Given the description of an element on the screen output the (x, y) to click on. 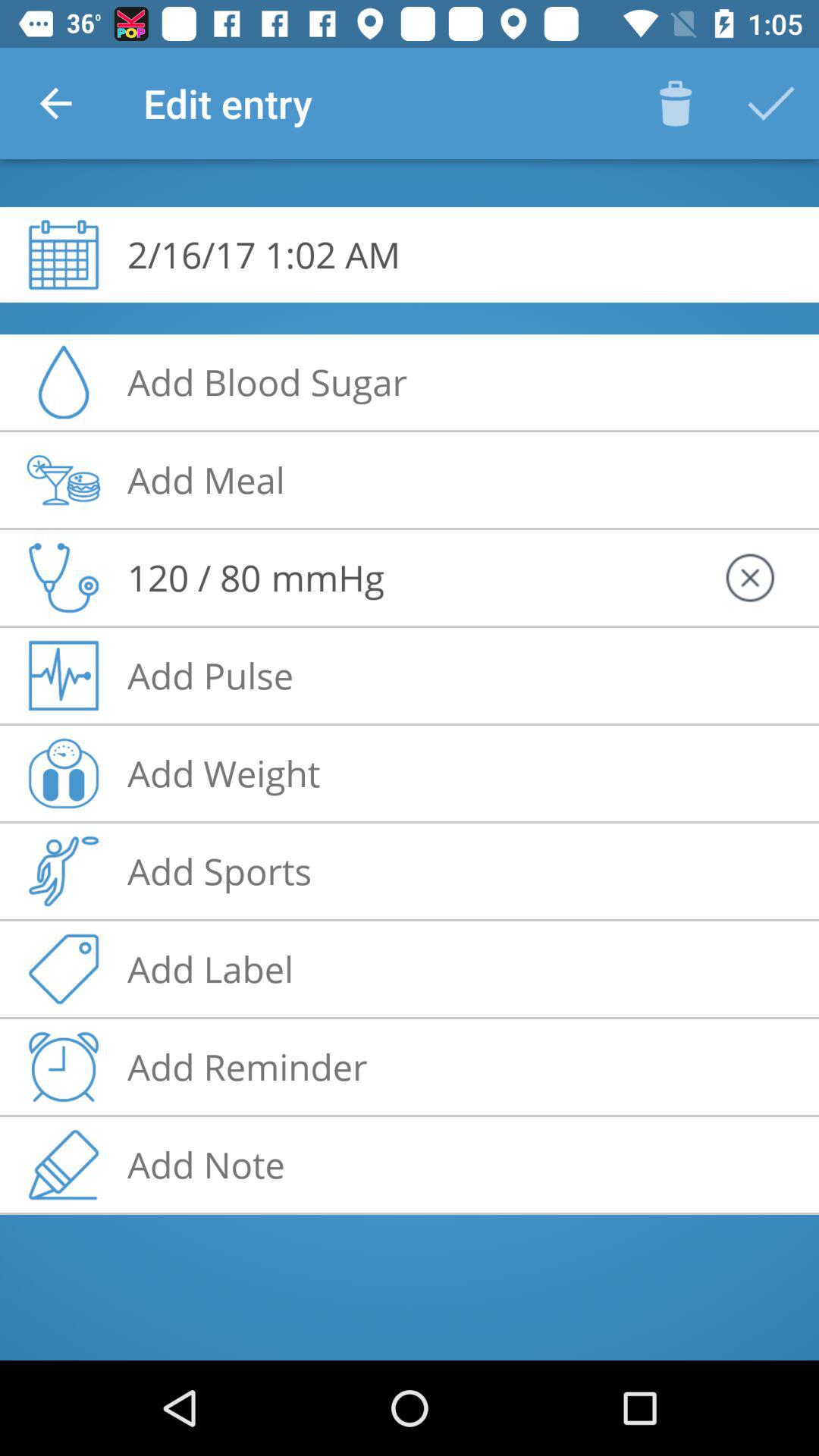
click the item next to edit entry item (55, 103)
